Given the description of an element on the screen output the (x, y) to click on. 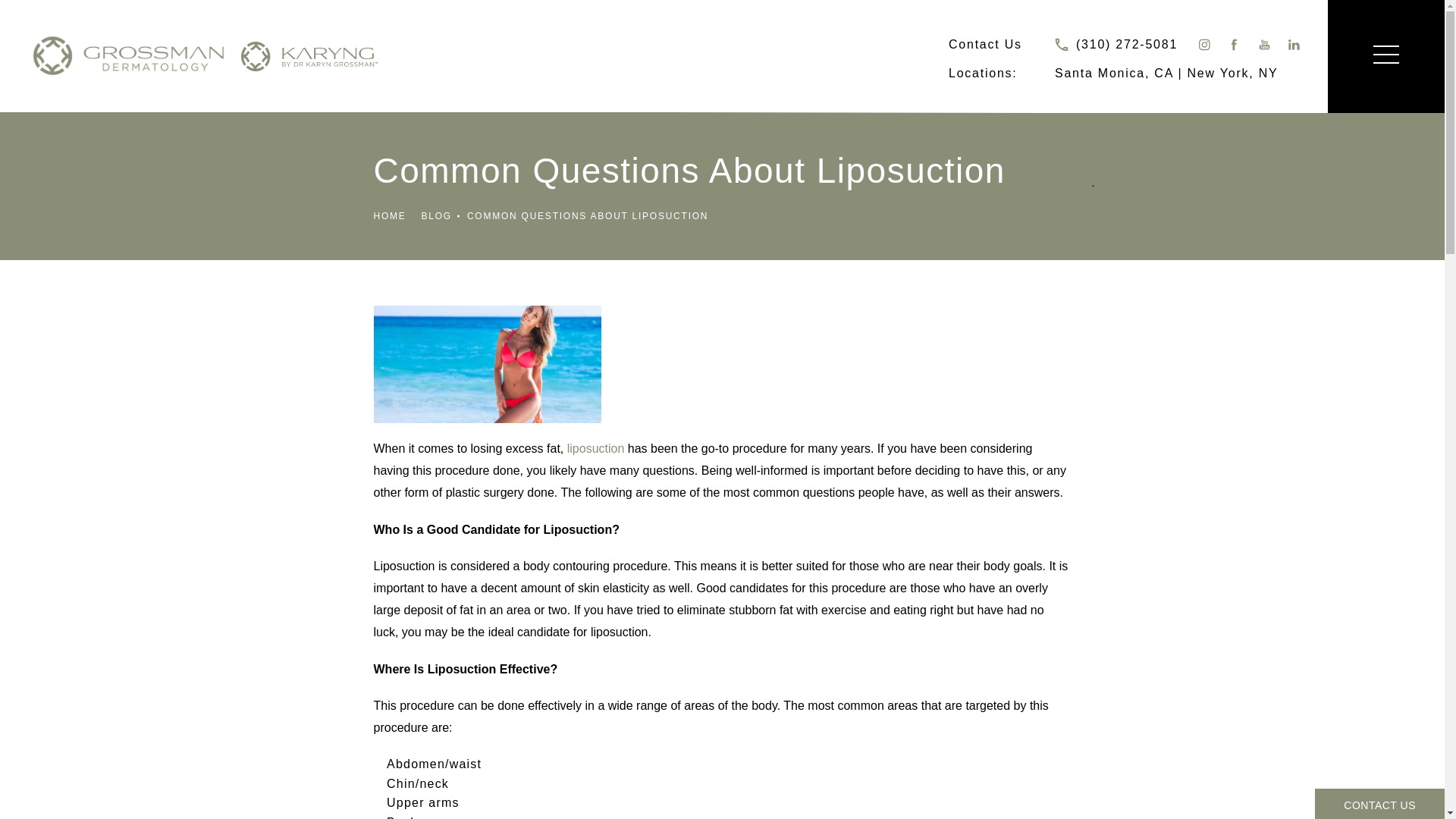
Grossman Dermatology on Linkedin (1295, 44)
Grossman Dermatology on Facebook (1233, 44)
Grossman Dermatology on Youtube (1264, 44)
Contact Us (985, 43)
Grossman Dermatology on Instagram (1203, 44)
